Given the description of an element on the screen output the (x, y) to click on. 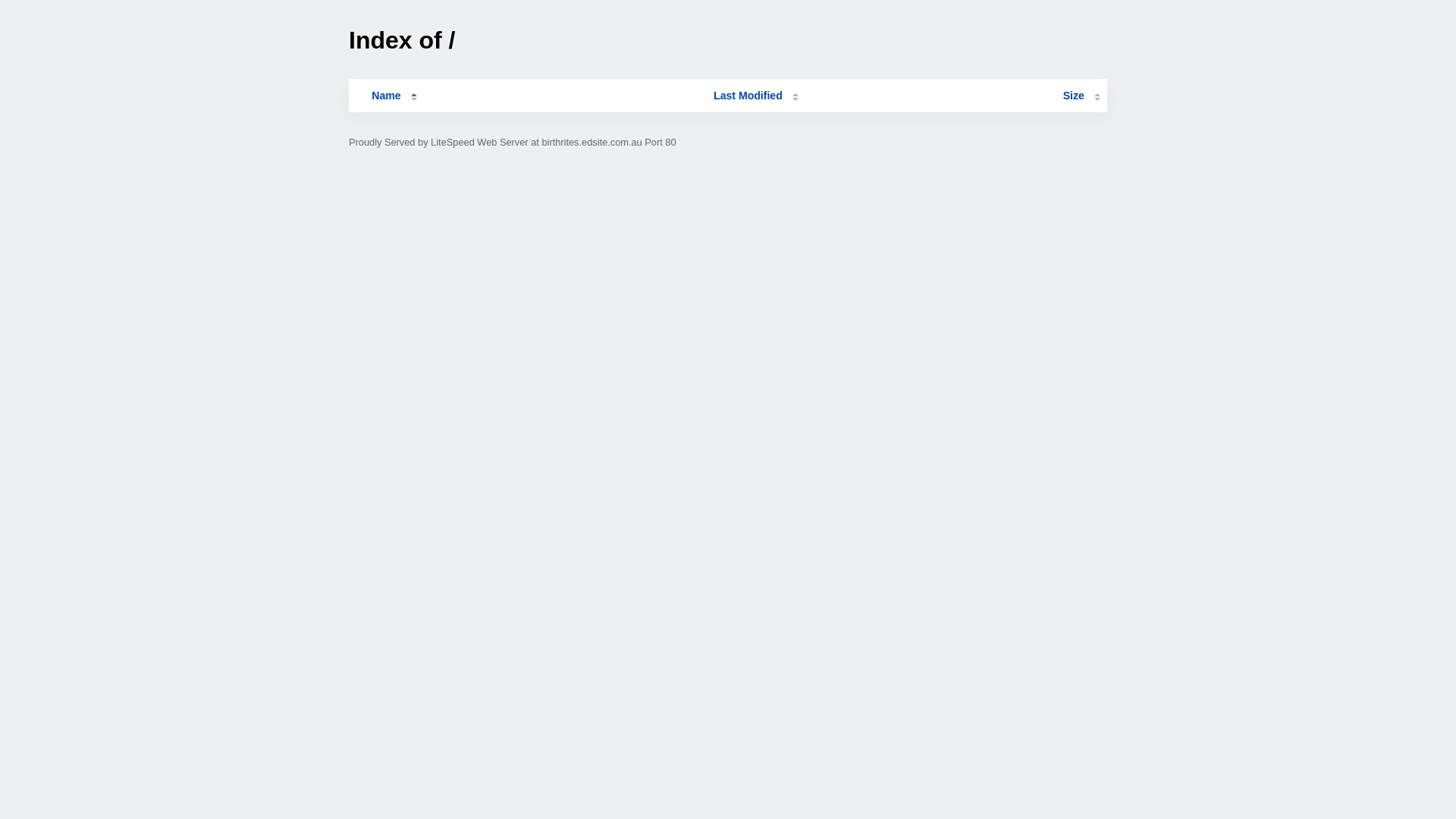
Name Element type: text (385, 95)
Last Modified Element type: text (755, 95)
Size Element type: text (1081, 95)
